Given the description of an element on the screen output the (x, y) to click on. 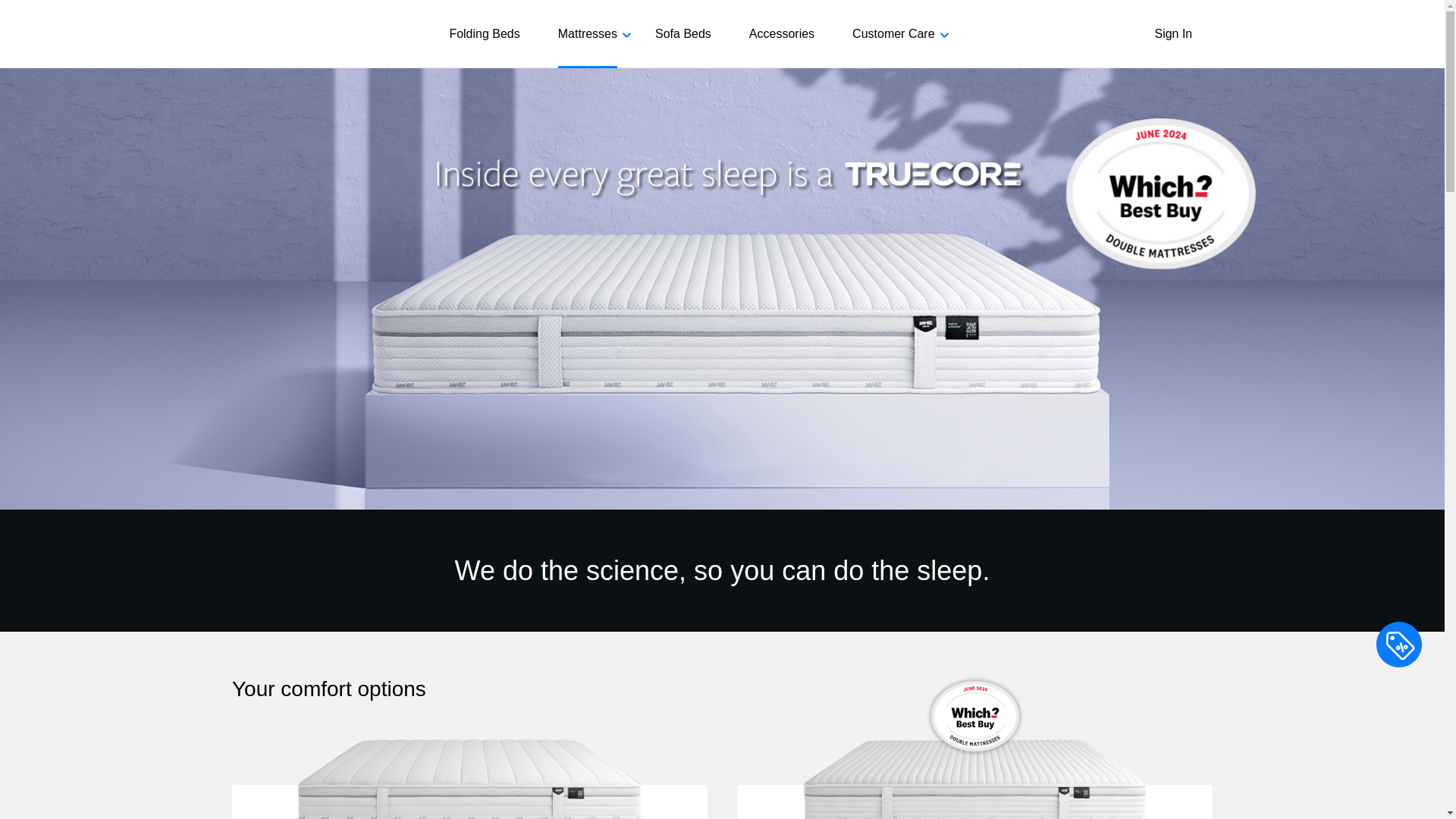
Adult mattresses (490, 81)
Create an account (895, 81)
Shop Truecore (677, 74)
Accessories (781, 33)
Folding Beds (483, 33)
Sign In (1191, 34)
Customer Care (892, 33)
